Given the description of an element on the screen output the (x, y) to click on. 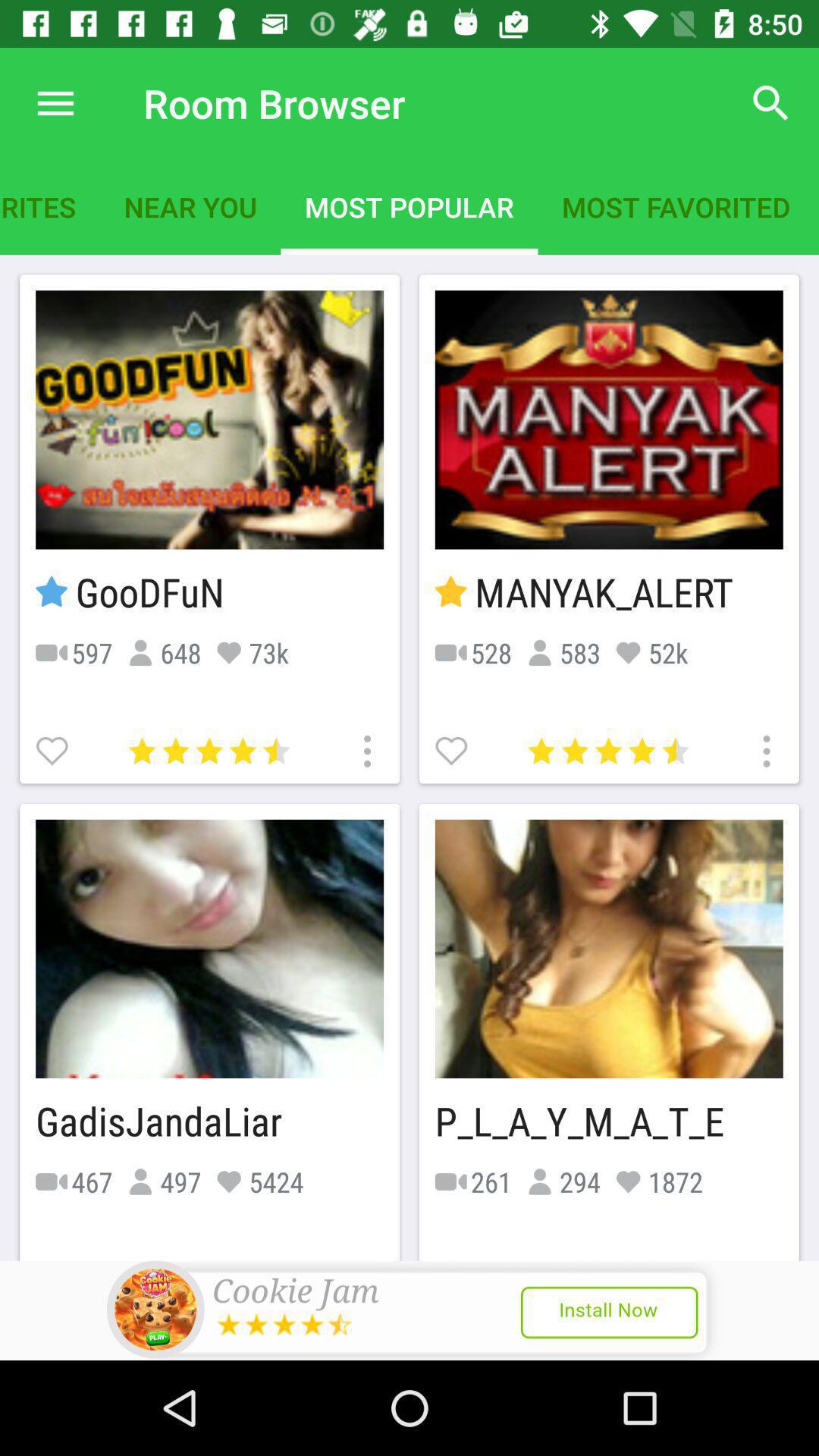
sponsor advertisement for cookie jam (409, 1310)
